Given the description of an element on the screen output the (x, y) to click on. 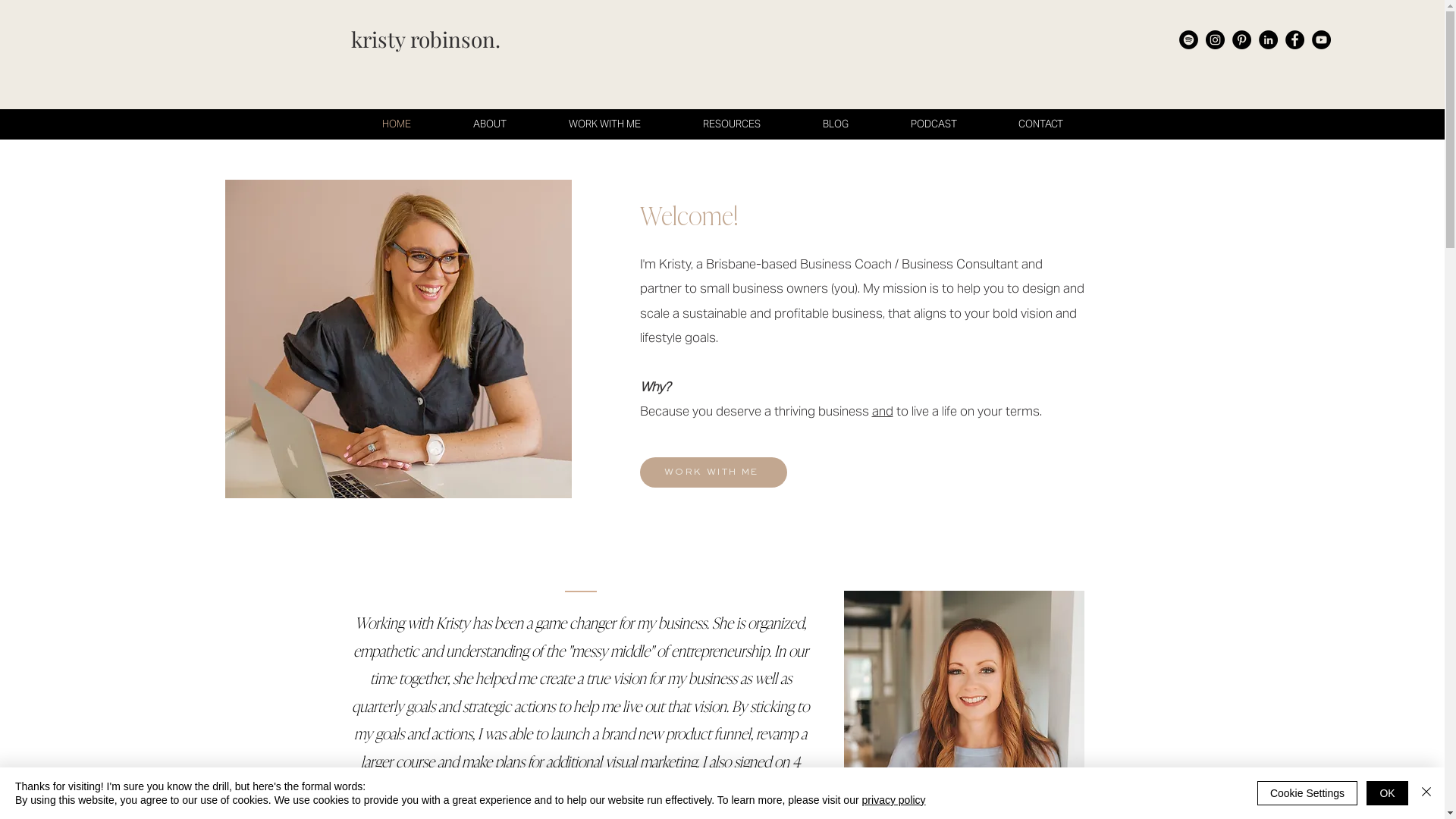
Cookie Settings Element type: text (1307, 793)
PODCAST Element type: text (933, 124)
RESOURCES Element type: text (731, 124)
HOME Element type: text (395, 124)
privacy policy Element type: text (893, 799)
ABOUT Element type: text (488, 124)
CONTACT Element type: text (1040, 124)
BLOG Element type: text (835, 124)
OK Element type: text (1387, 793)
WORK WITH ME Element type: text (713, 472)
WORK WITH ME Element type: text (603, 124)
kristy robinson. Element type: text (424, 41)
